Given the description of an element on the screen output the (x, y) to click on. 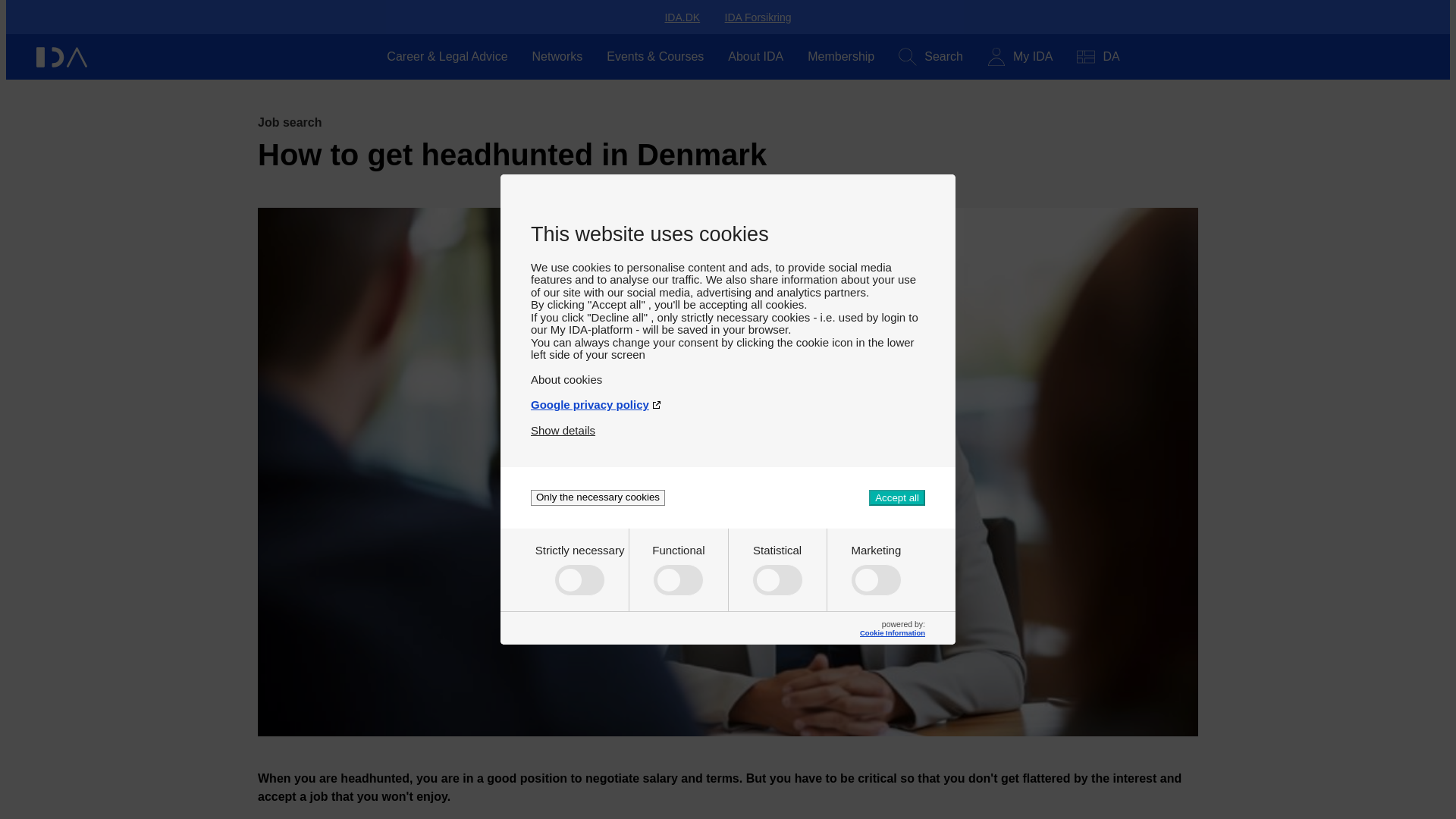
About cookies (727, 373)
Google privacy policy (727, 398)
Show details (563, 423)
